Given the description of an element on the screen output the (x, y) to click on. 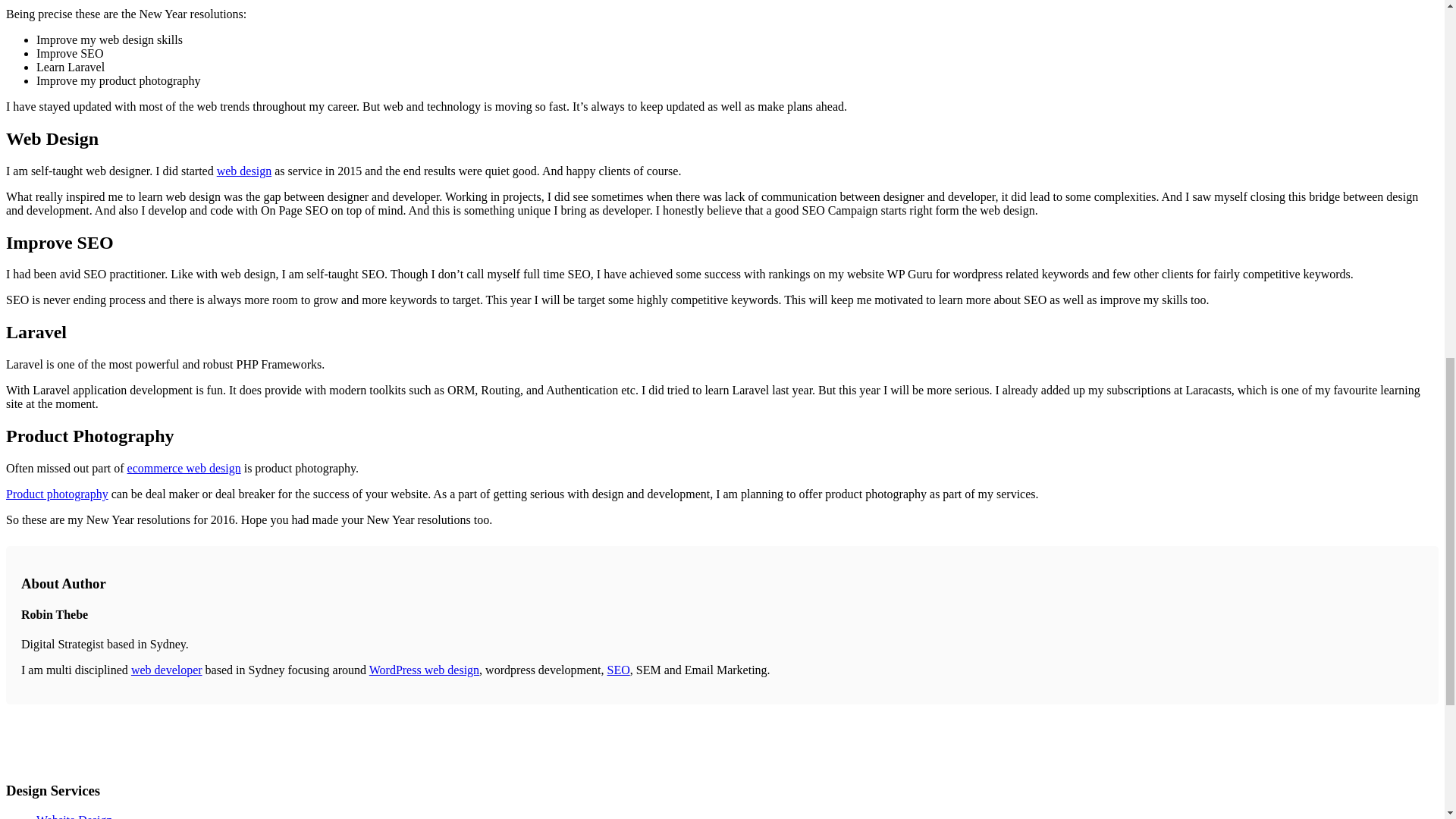
web developer (166, 669)
Product photography (56, 493)
ecommerce web design (184, 468)
WordPress web design (424, 669)
web design (243, 170)
SEO (617, 669)
Website Design (74, 816)
